Given the description of an element on the screen output the (x, y) to click on. 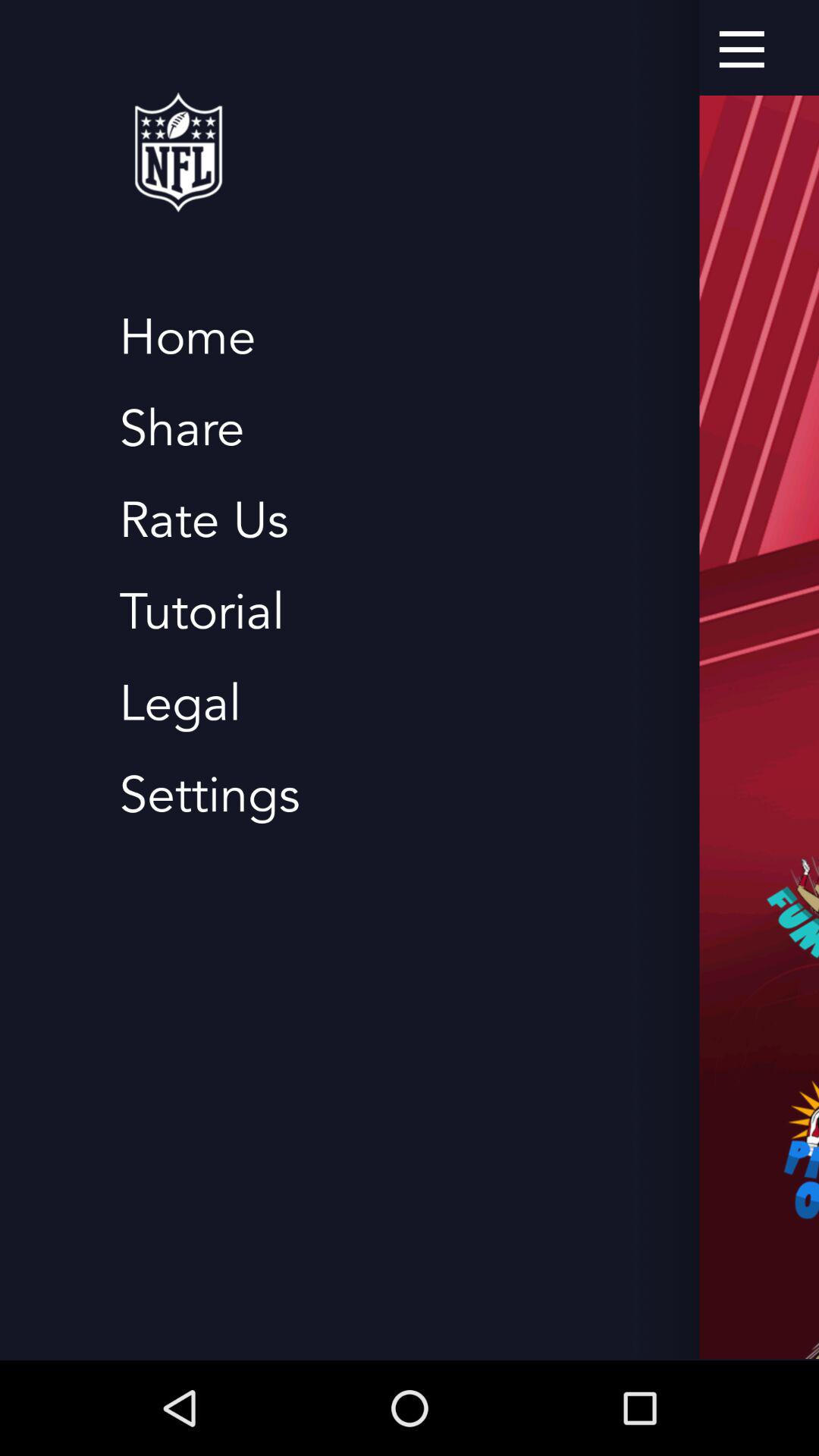
open settings icon (209, 795)
